Given the description of an element on the screen output the (x, y) to click on. 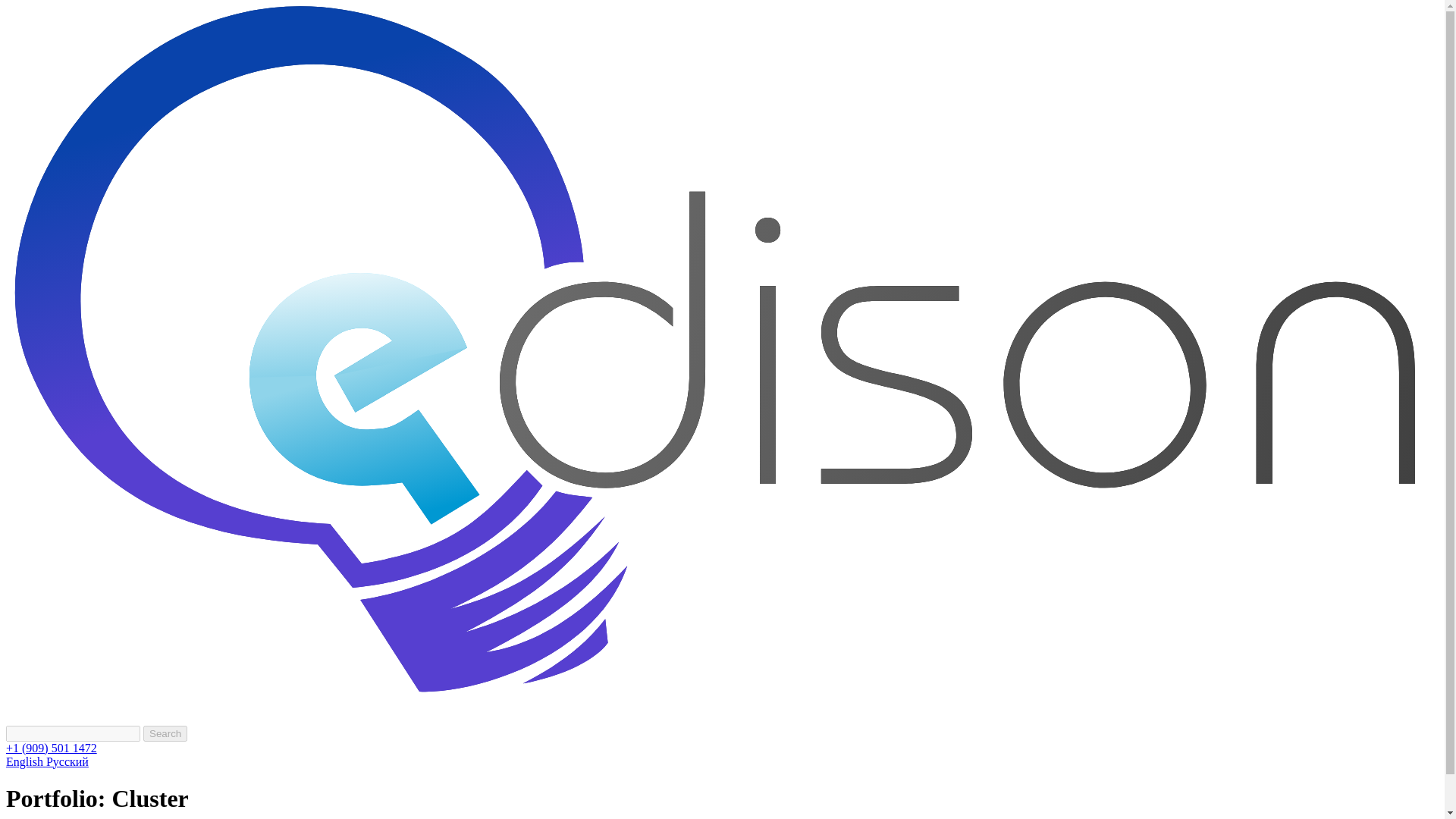
Search (164, 732)
English (25, 761)
Search (164, 732)
Search (164, 732)
